Given the description of an element on the screen output the (x, y) to click on. 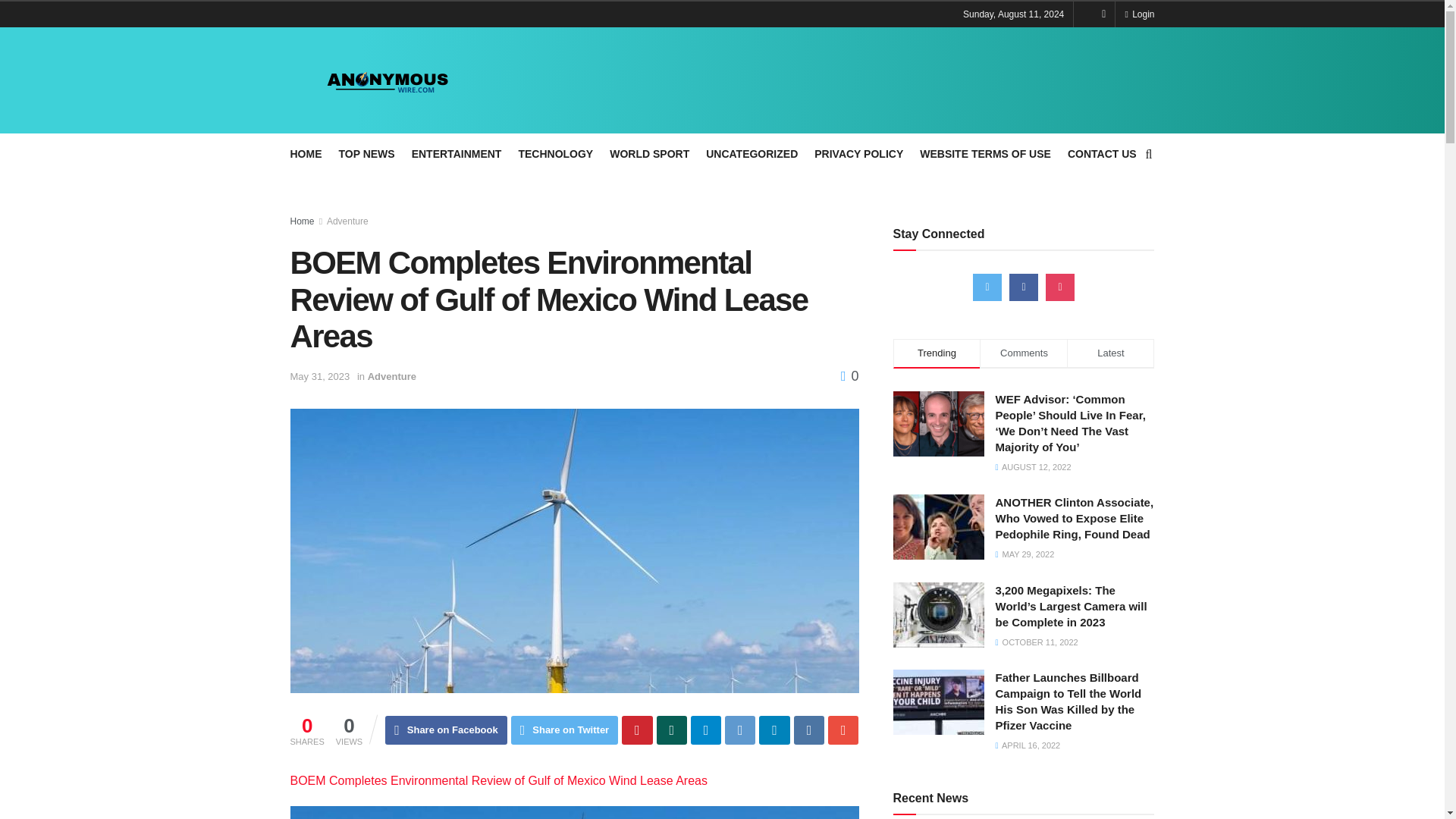
WORLD SPORT (649, 153)
TOP NEWS (365, 153)
Adventure (392, 376)
0 (850, 376)
Adventure (347, 221)
UNCATEGORIZED (751, 153)
Login (1139, 14)
Home (301, 221)
